Given the description of an element on the screen output the (x, y) to click on. 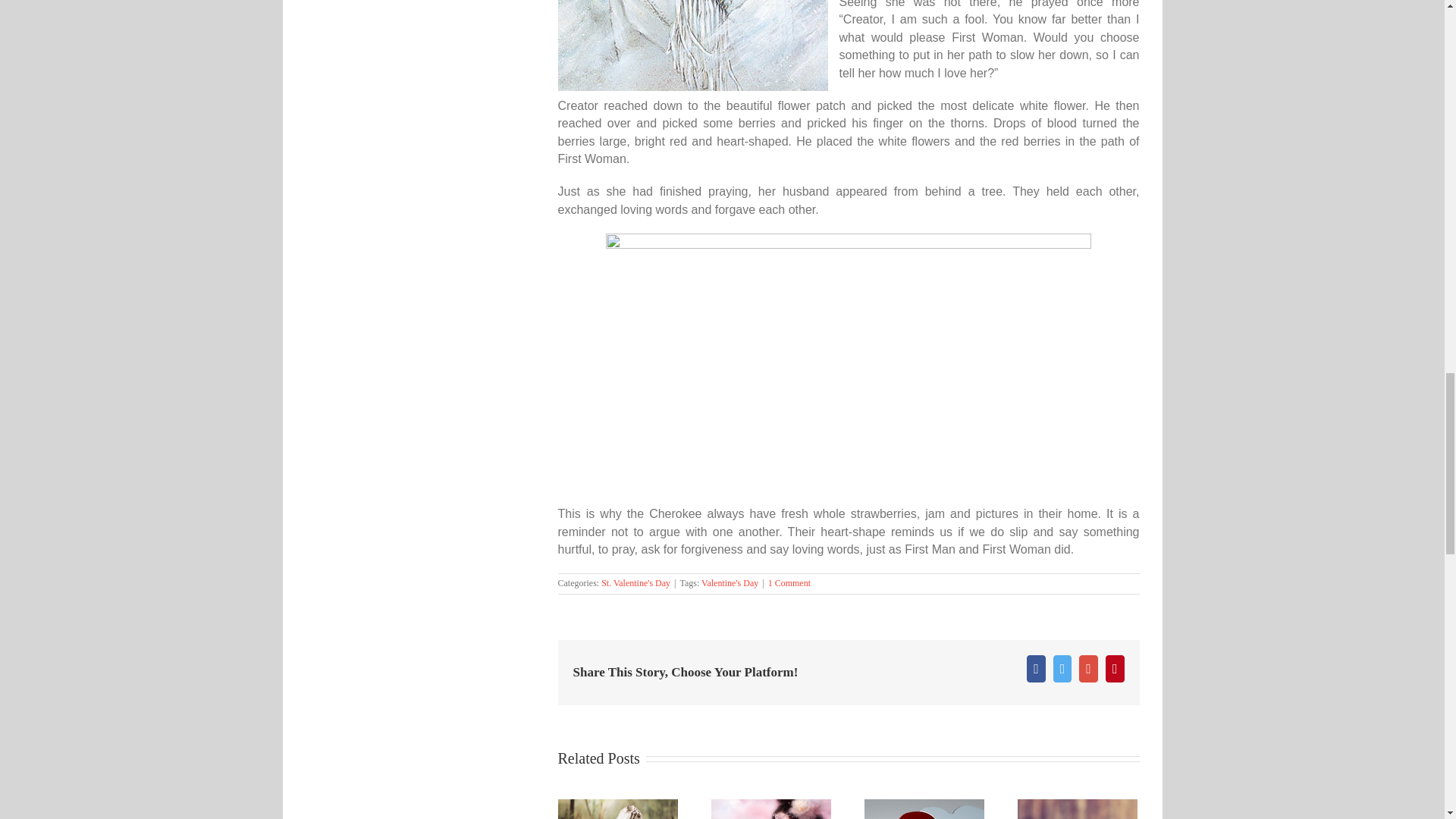
1 Comment (789, 583)
Valentine's Day (729, 583)
Facebook (1035, 668)
St. Valentine's Day (635, 583)
